Given the description of an element on the screen output the (x, y) to click on. 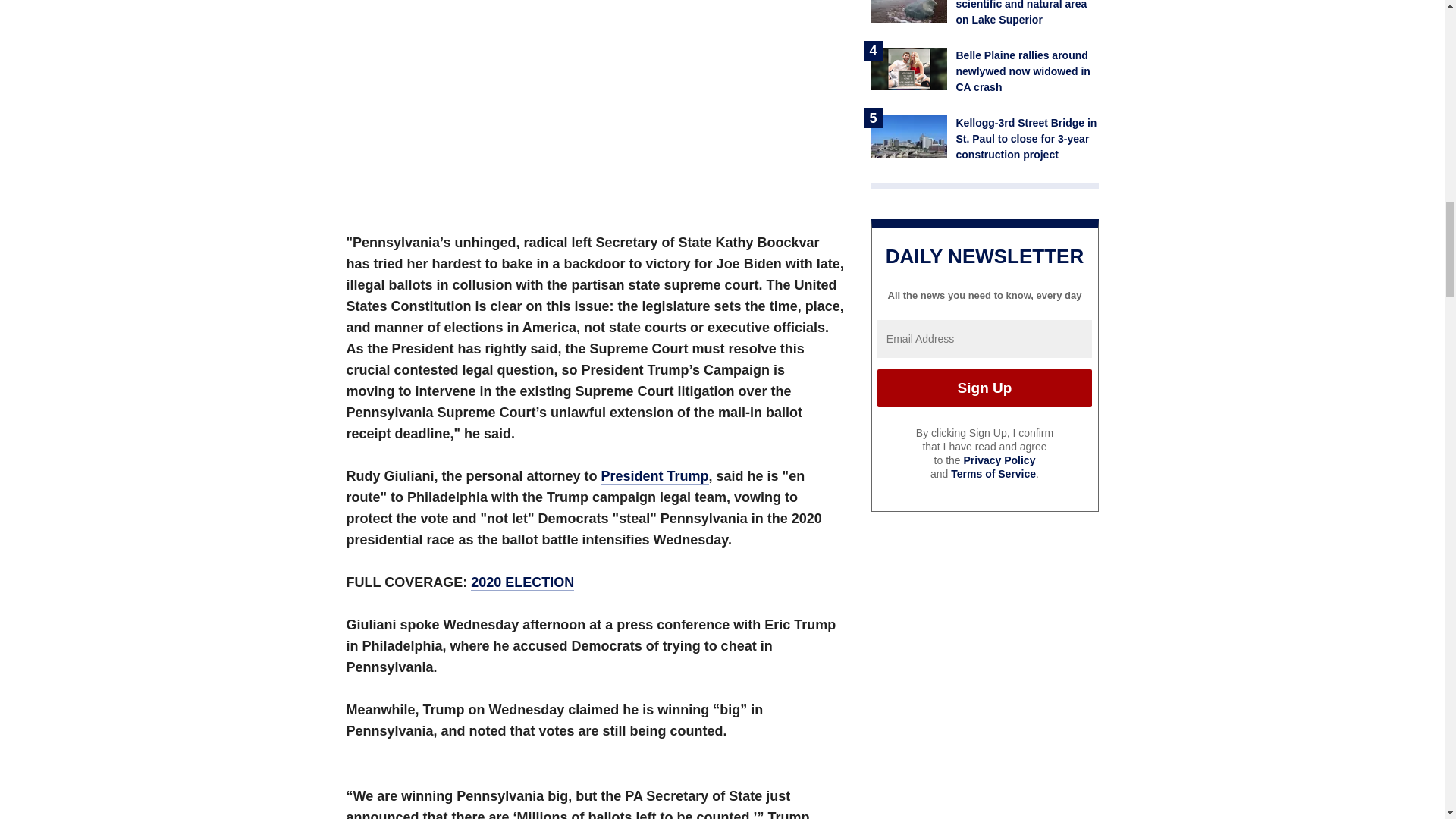
Sign Up (984, 388)
